Given the description of an element on the screen output the (x, y) to click on. 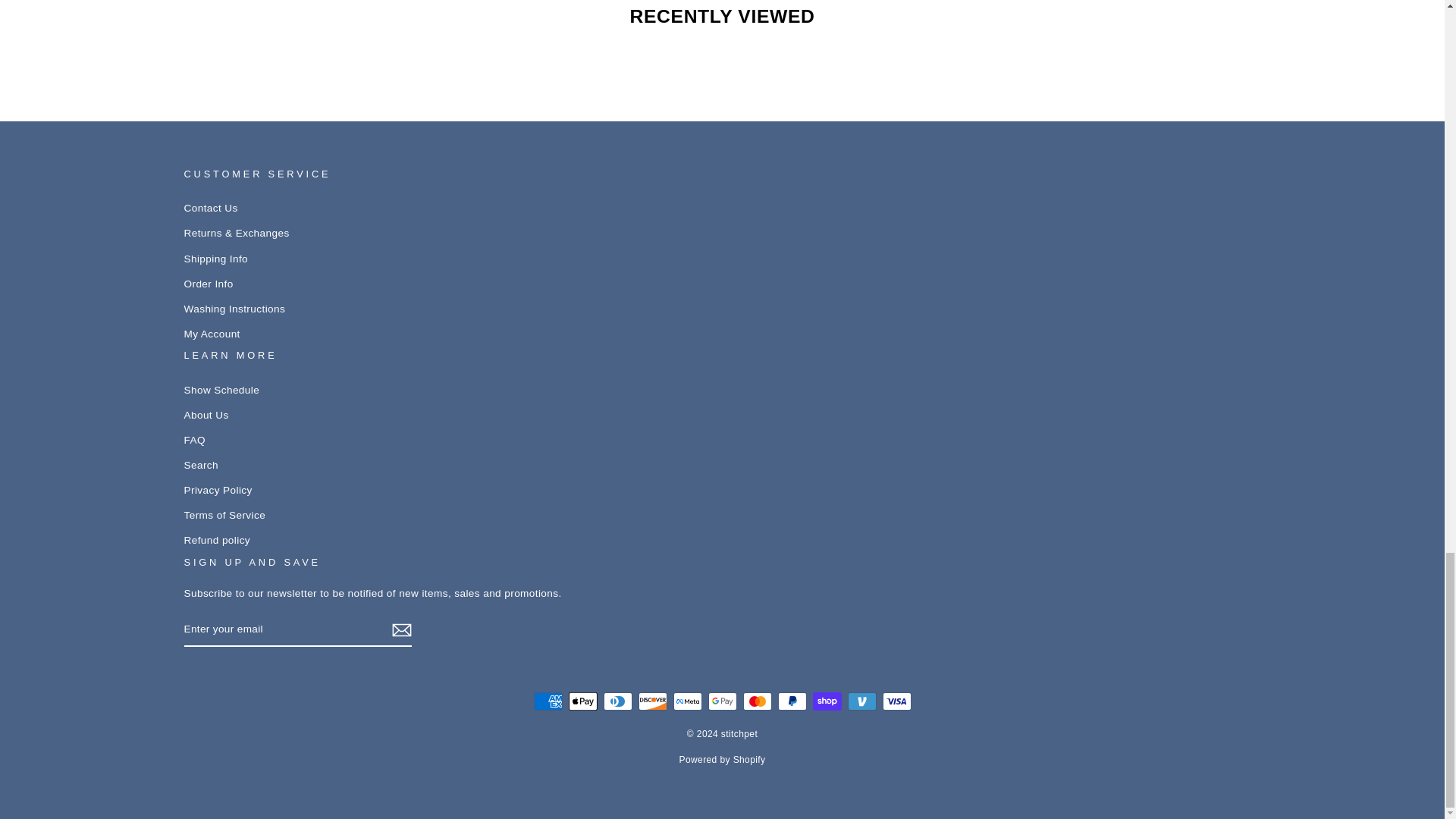
Google Pay (721, 701)
Diners Club (617, 701)
PayPal (791, 701)
Discover (652, 701)
Apple Pay (582, 701)
Meta Pay (686, 701)
Mastercard (756, 701)
American Express (548, 701)
